Given the description of an element on the screen output the (x, y) to click on. 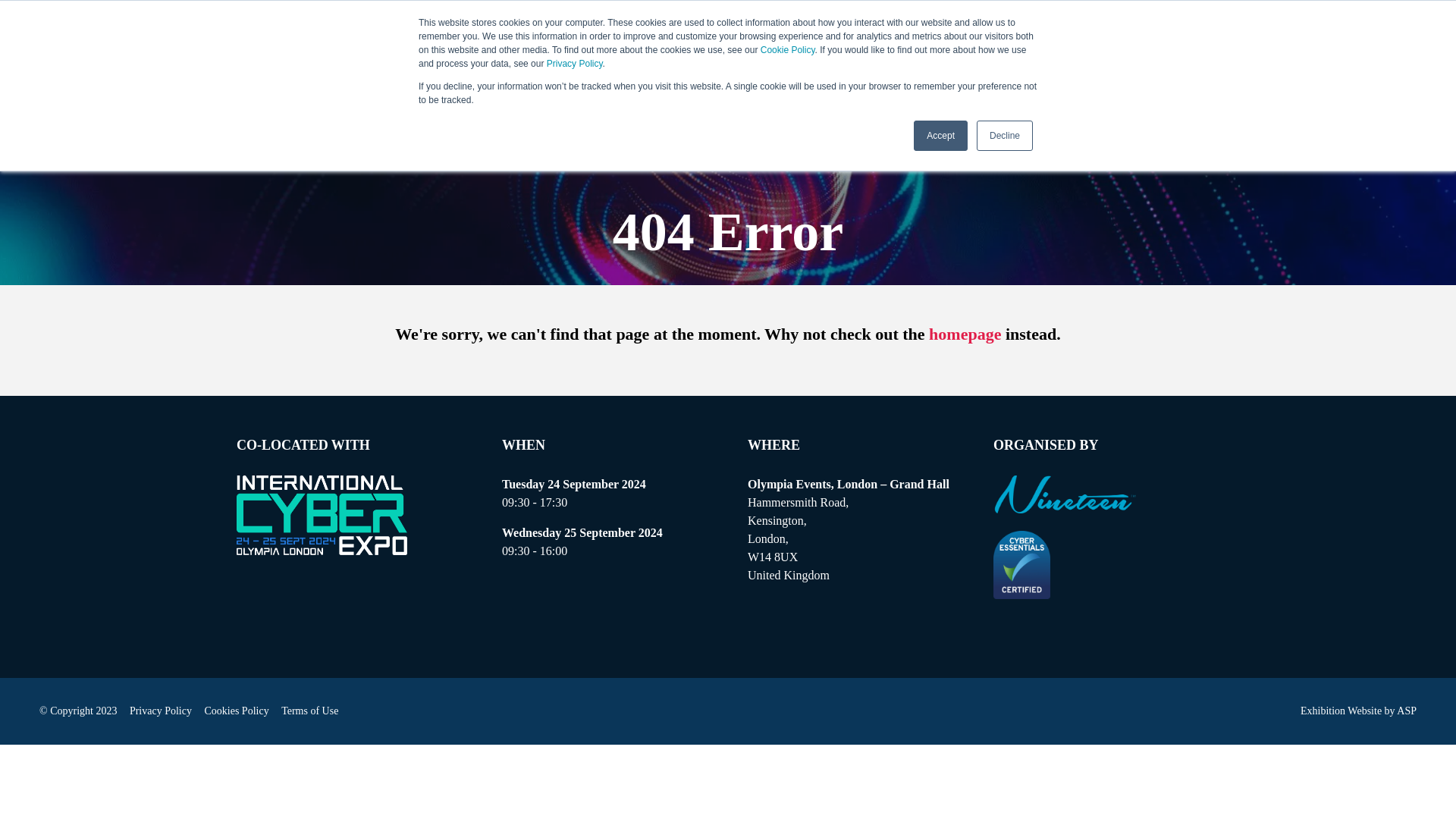
Decline (1004, 135)
Cookie Policy (787, 50)
Privacy Policy (574, 63)
Accept (941, 135)
